Given the description of an element on the screen output the (x, y) to click on. 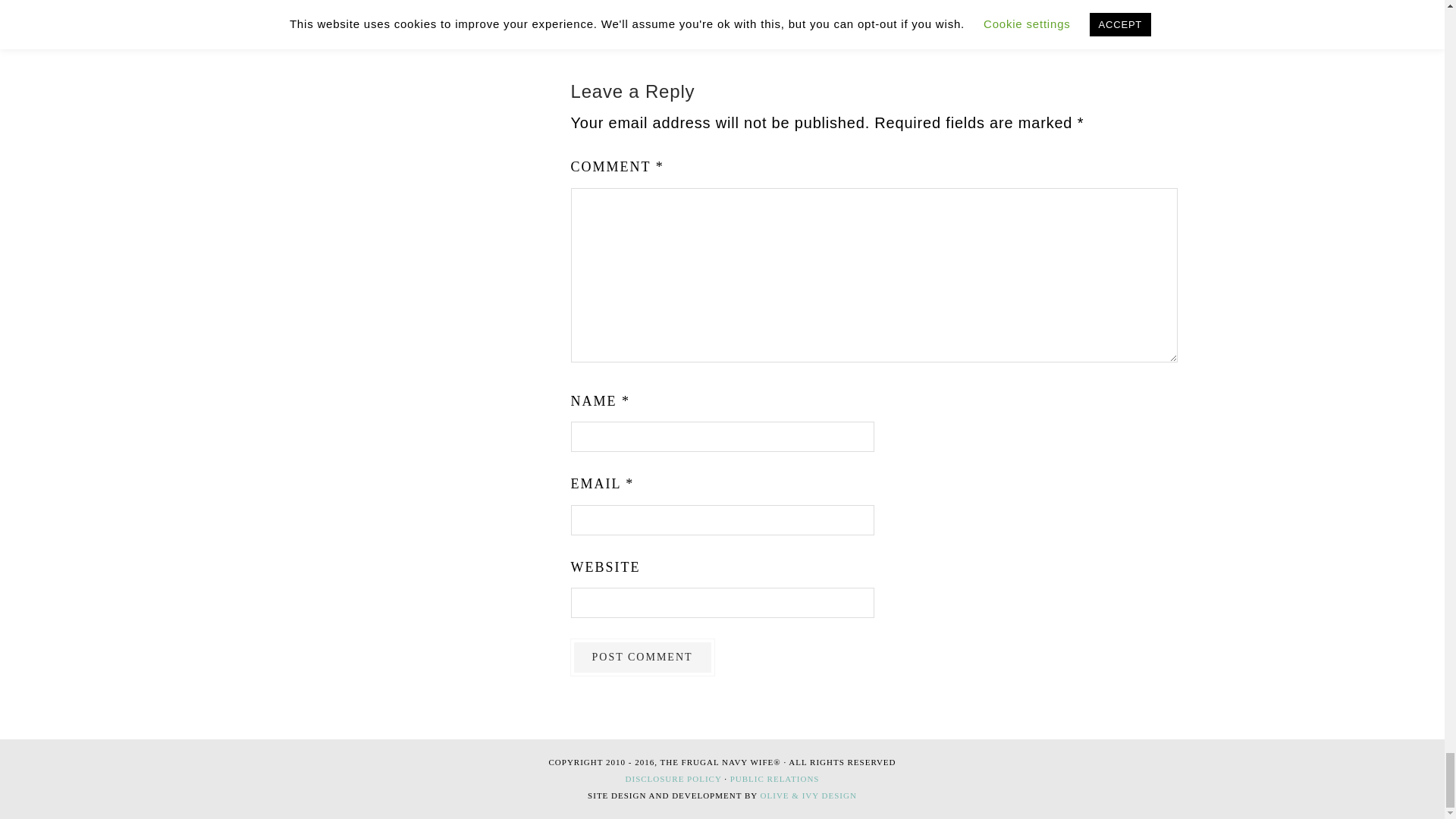
Post Comment (641, 657)
